Given the description of an element on the screen output the (x, y) to click on. 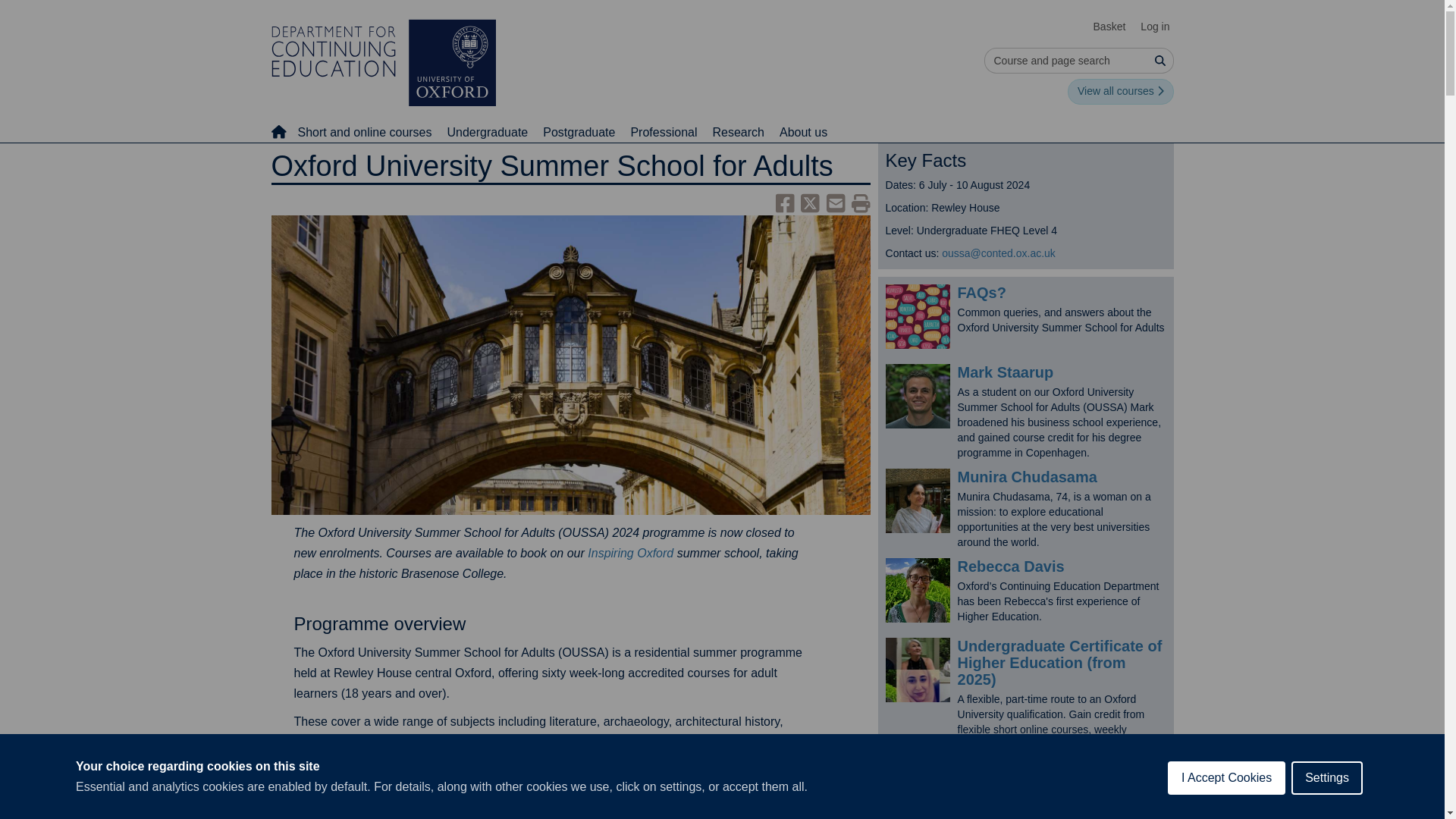
Settings (1326, 794)
View all courses (1120, 91)
I Accept Cookies (1226, 802)
Basket (1110, 26)
Log in (1154, 26)
Short and online courses (363, 132)
